Given the description of an element on the screen output the (x, y) to click on. 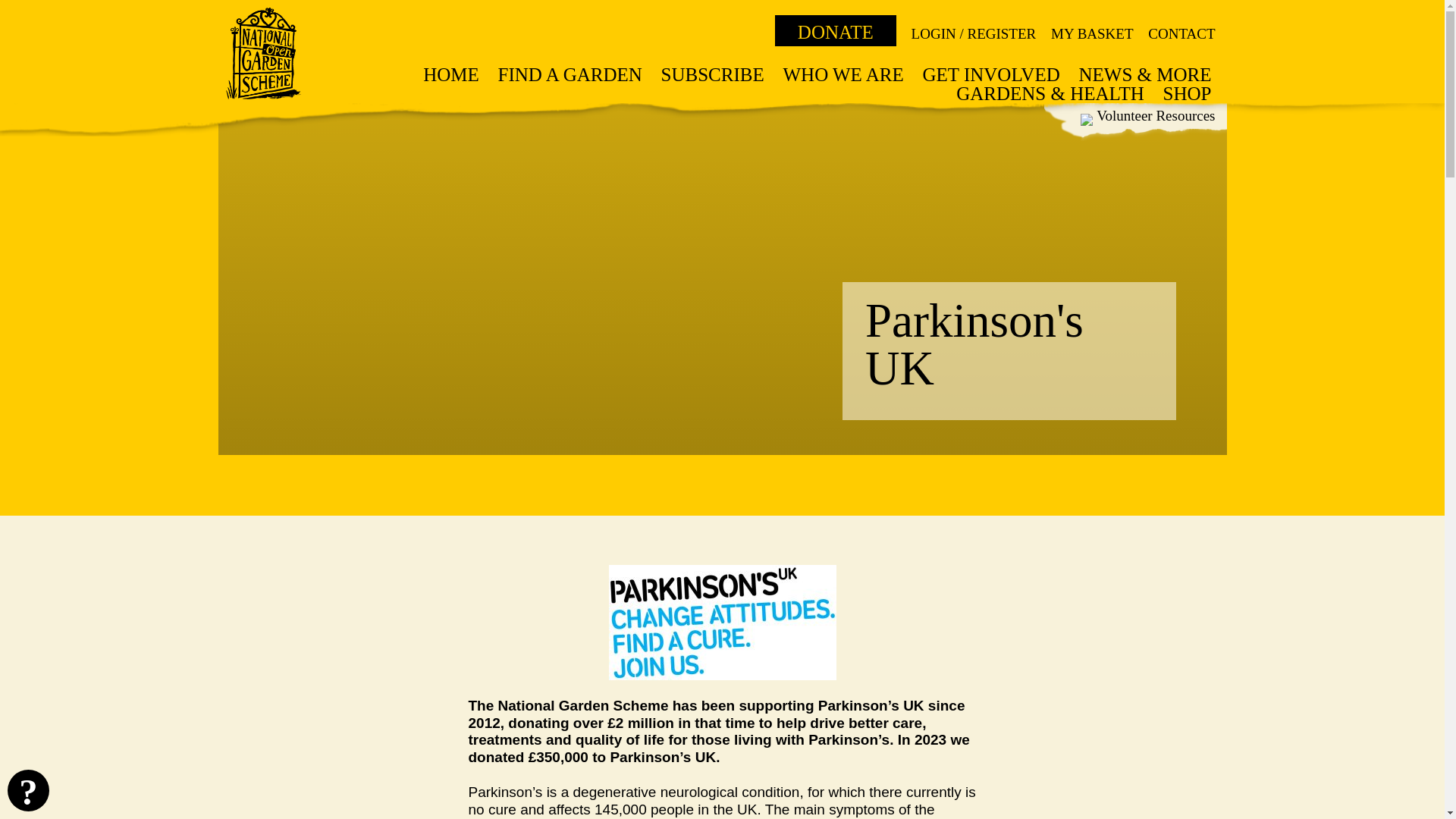
GET INVOLVED (990, 74)
CONTACT (1181, 33)
SUBSCRIBE (712, 74)
MY BASKET (1092, 33)
DONATE (835, 30)
WHO WE ARE (842, 74)
HOME (451, 74)
FIND A GARDEN (569, 74)
